Given the description of an element on the screen output the (x, y) to click on. 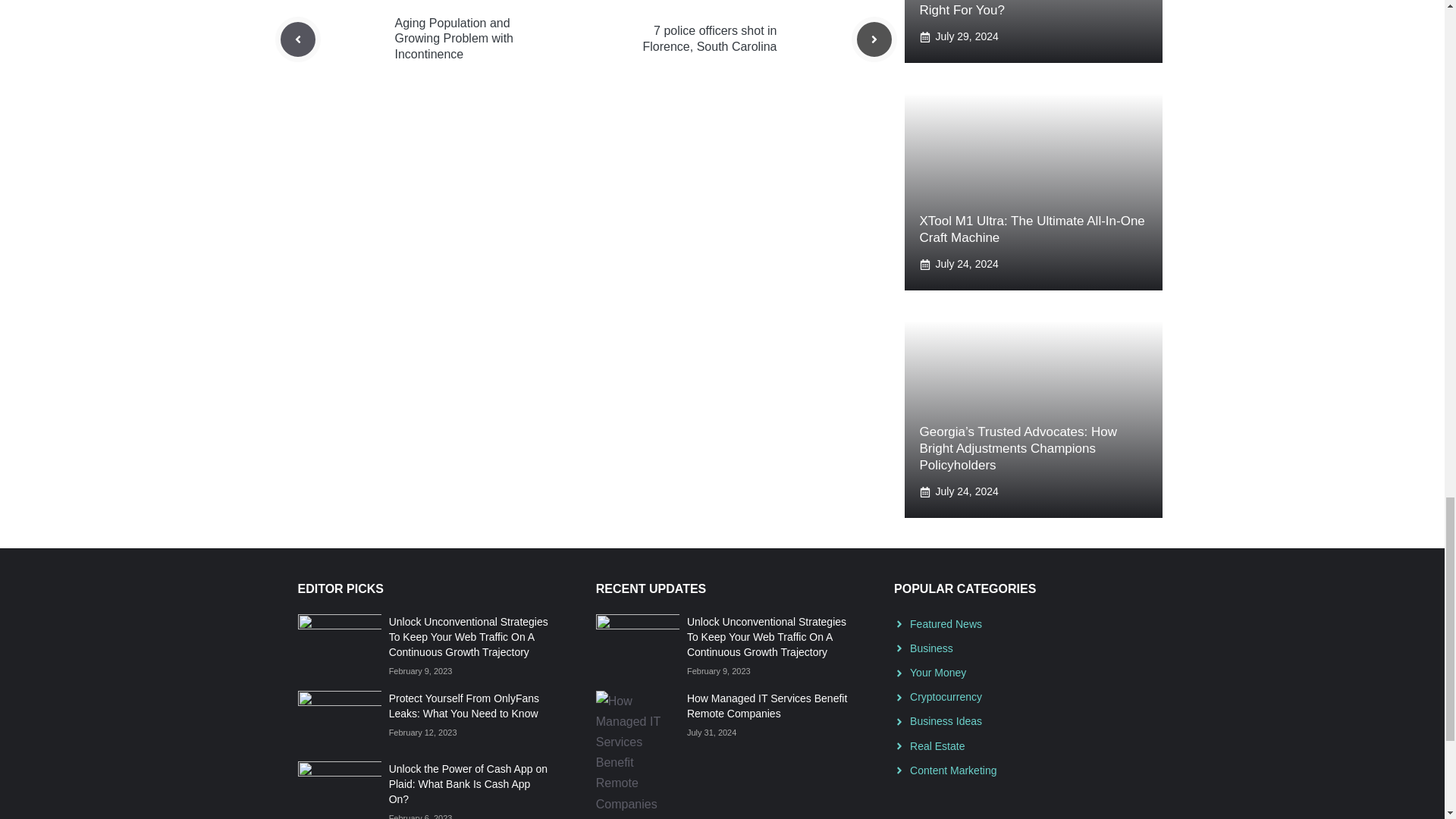
How Managed IT Services Benefit Remote Companies (767, 705)
Business (931, 648)
7 police officers shot in Florence, South Carolina (710, 38)
Aging Population and Growing Problem with Incontinence (453, 38)
Featured News (945, 623)
Protect Yourself From OnlyFans Leaks: What You Need to Know (463, 705)
XTool M1 Ultra: The Ultimate All-In-One Craft Machine (1031, 228)
Flat Top Grill Vs Gas Grill: Which Is Right For You? (1018, 8)
